Given the description of an element on the screen output the (x, y) to click on. 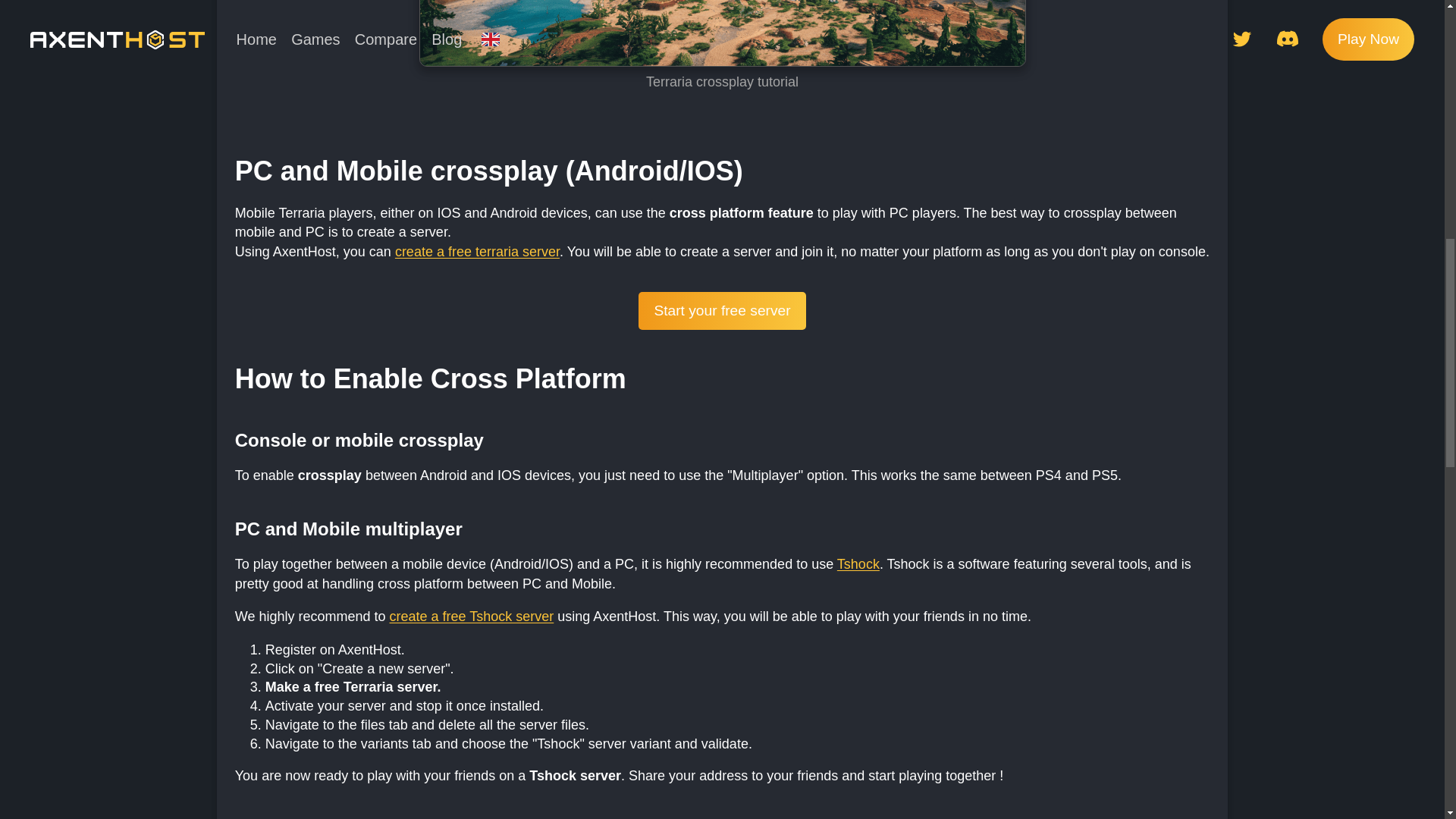
Terraria crossplay tutorial (722, 33)
create a free terraria server (476, 251)
Start your free server (722, 310)
Tshock (858, 563)
create a free Tshock server (472, 616)
